Given the description of an element on the screen output the (x, y) to click on. 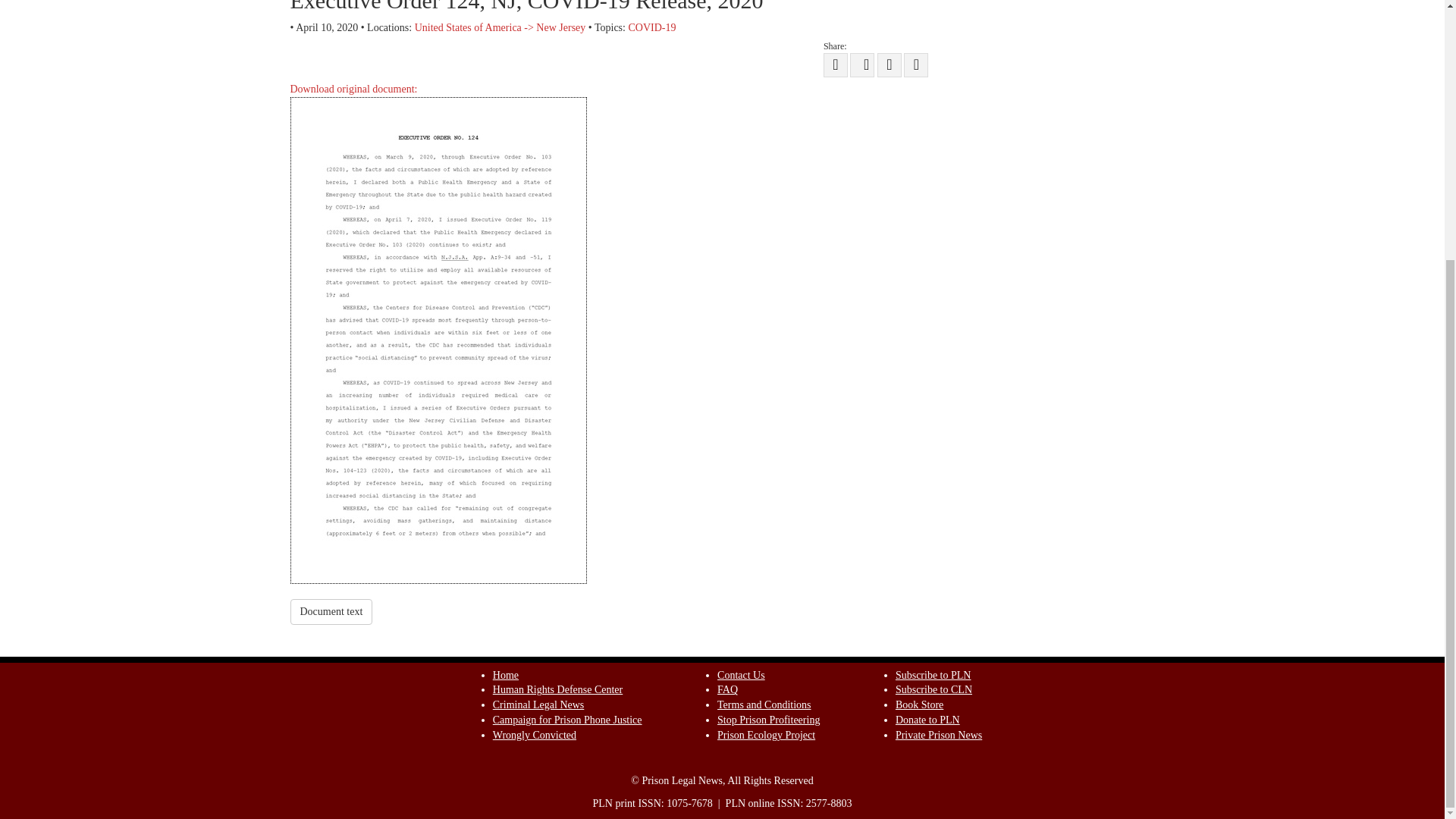
Share on Twitter (835, 64)
COVID-19 (651, 27)
Share on Facebook (862, 64)
